Given the description of an element on the screen output the (x, y) to click on. 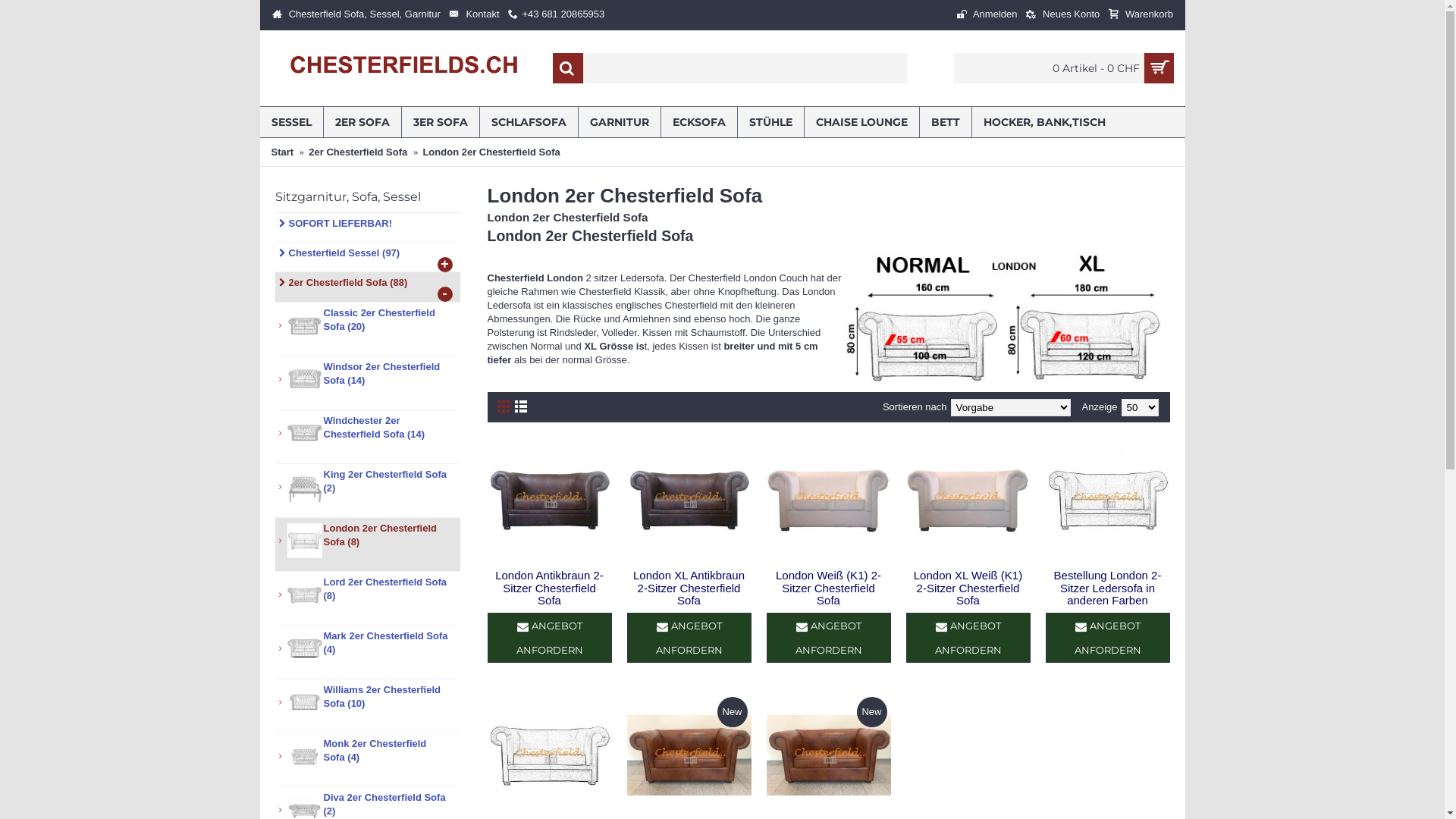
Williams 2er Chesterfield Sofa (10) Element type: text (366, 706)
CHAISE LOUNGE Element type: text (860, 121)
London XL Antikbraun 2-Sitzer Chesterfield Sofa Element type: text (688, 586)
3ER SOFA Element type: text (440, 121)
Windchester 2er Chesterfield Sofa (14) Element type: text (366, 437)
Lord 2er Chesterfield Sofa (8) Element type: text (366, 598)
Neues Konto Element type: text (1062, 15)
London 2er Chesterfield Sofa (8) Element type: text (366, 544)
King 2er Chesterfield Sofa (2) Element type: text (366, 490)
London Antikbraun 2-Sitzer Chesterfield Sofa Element type: text (548, 586)
GARNITUR Element type: text (618, 121)
SESSEL Element type: text (290, 121)
Warenkorb Element type: text (1140, 15)
London Whisky (C12) 2-Sitzer Chesterfield Sofa Element type: hover (688, 755)
ANGEBOT ANFORDERN Element type: text (688, 637)
Monk 2er Chesterfield Sofa (4) Element type: text (366, 760)
Bestellung London 2-Sitzer Ledersofa in anderen Farben Element type: hover (1106, 499)
2er Chesterfield Sofa Element type: text (357, 152)
SOFORT LIEFERBAR! Element type: text (366, 227)
ANGEBOT ANFORDERN Element type: text (967, 637)
Chesterfield Sofa, Sessel, Garnitur Element type: text (355, 15)
Bestellung London 2-Sitzer Ledersofa in anderen Farben Element type: text (1106, 586)
Chesterfield Sessel (97)
+ Element type: text (366, 257)
SCHLAFSOFA Element type: text (528, 121)
Anmelden Element type: text (986, 15)
ANGEBOT ANFORDERN Element type: text (827, 637)
HOCKER, BANK,TISCH Element type: text (1044, 121)
London Whisky (C12) 2-Sitzer Chesterfield Sofa Element type: hover (827, 755)
Kontakt Element type: text (473, 15)
2er Chesterfield Sofa (88)
- Element type: text (366, 286)
Mark 2er Chesterfield Sofa (4) Element type: text (366, 652)
ANGEBOT ANFORDERN Element type: text (548, 637)
London Antikbraun 2-Sitzer Chesterfield Sofa Element type: hover (548, 499)
0 Artikel - 0 CHF Element type: text (1063, 68)
Windsor 2er Chesterfield Sofa (14) Element type: text (366, 383)
BETT Element type: text (944, 121)
London XL Antikbraun 2-Sitzer Chesterfield Sofa Element type: hover (688, 499)
ANGEBOT ANFORDERN Element type: text (1106, 637)
ECKSOFA Element type: text (699, 121)
Start Element type: text (282, 152)
London 2er Chesterfield Sofa Element type: text (490, 152)
2ER SOFA Element type: text (361, 121)
Bestellung London XL 2-Sitzer Ledersofa in anderen Farben Element type: hover (548, 755)
GmbH - CH Element type: hover (403, 68)
Classic 2er Chesterfield Sofa (20) Element type: text (366, 329)
